Given the description of an element on the screen output the (x, y) to click on. 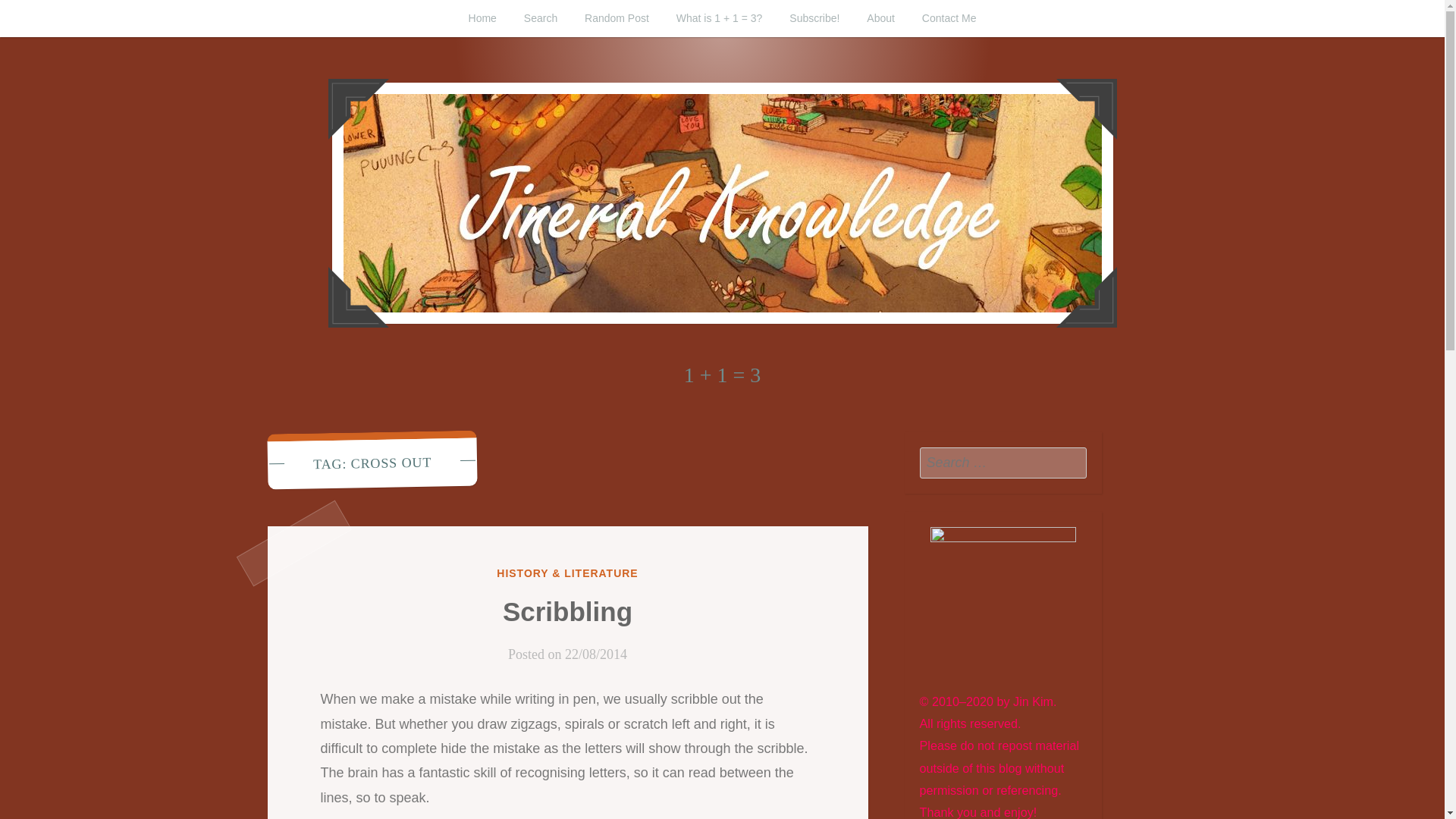
Search (1070, 462)
Search (1070, 462)
Subscribe! (814, 18)
Contact Me (949, 18)
Search (1070, 462)
Random Post (616, 18)
Home (482, 18)
Search (540, 18)
Scribbling (566, 611)
About (880, 18)
